Given the description of an element on the screen output the (x, y) to click on. 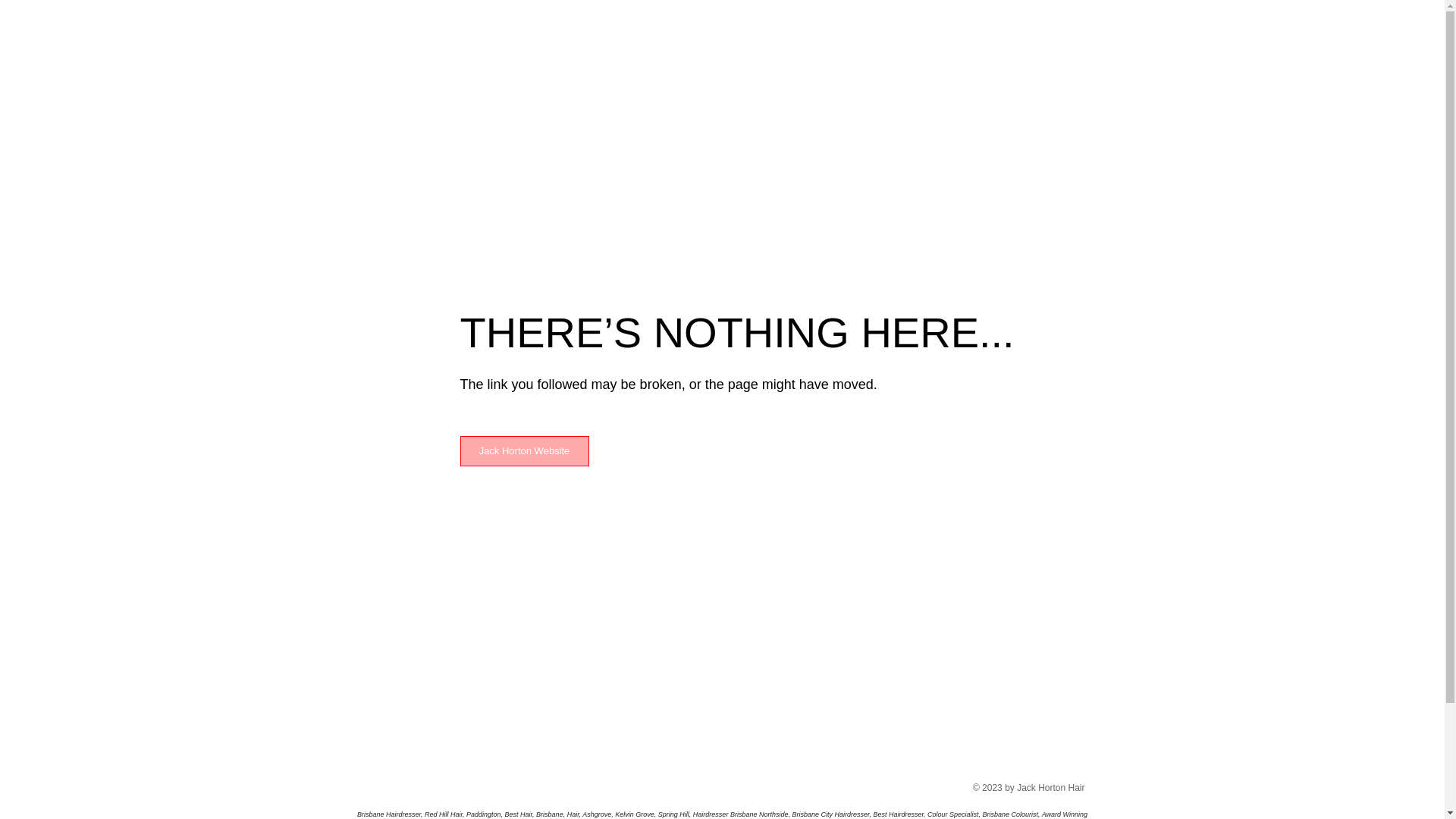
Jack Horton Website Element type: text (523, 451)
NEWS Element type: text (719, 50)
